Given the description of an element on the screen output the (x, y) to click on. 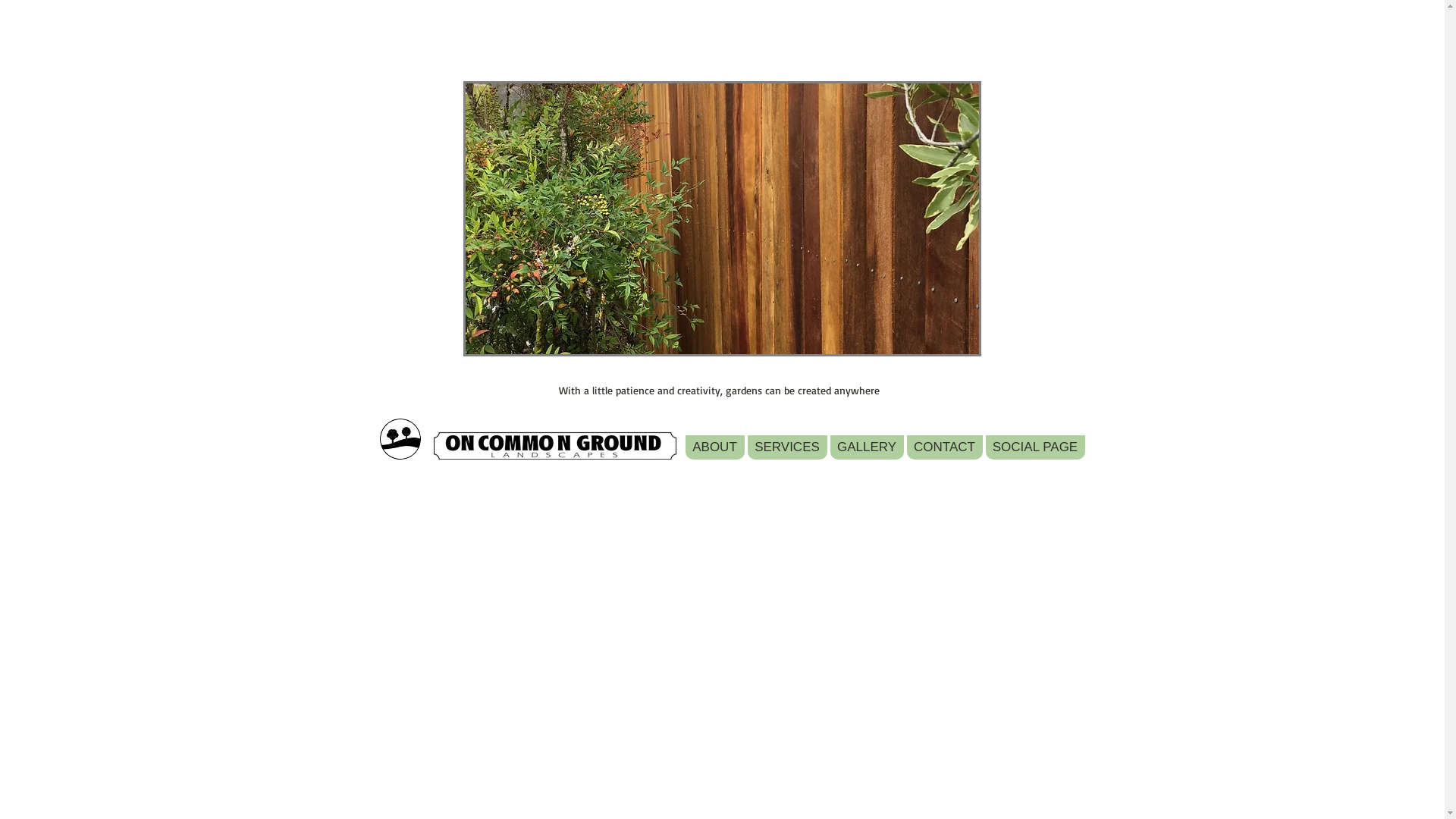
GALLERY Element type: text (866, 447)
SOCIAL PAGE Element type: text (1035, 447)
ABOUT Element type: text (714, 447)
CONTACT Element type: text (944, 447)
SERVICES Element type: text (787, 447)
